Given the description of an element on the screen output the (x, y) to click on. 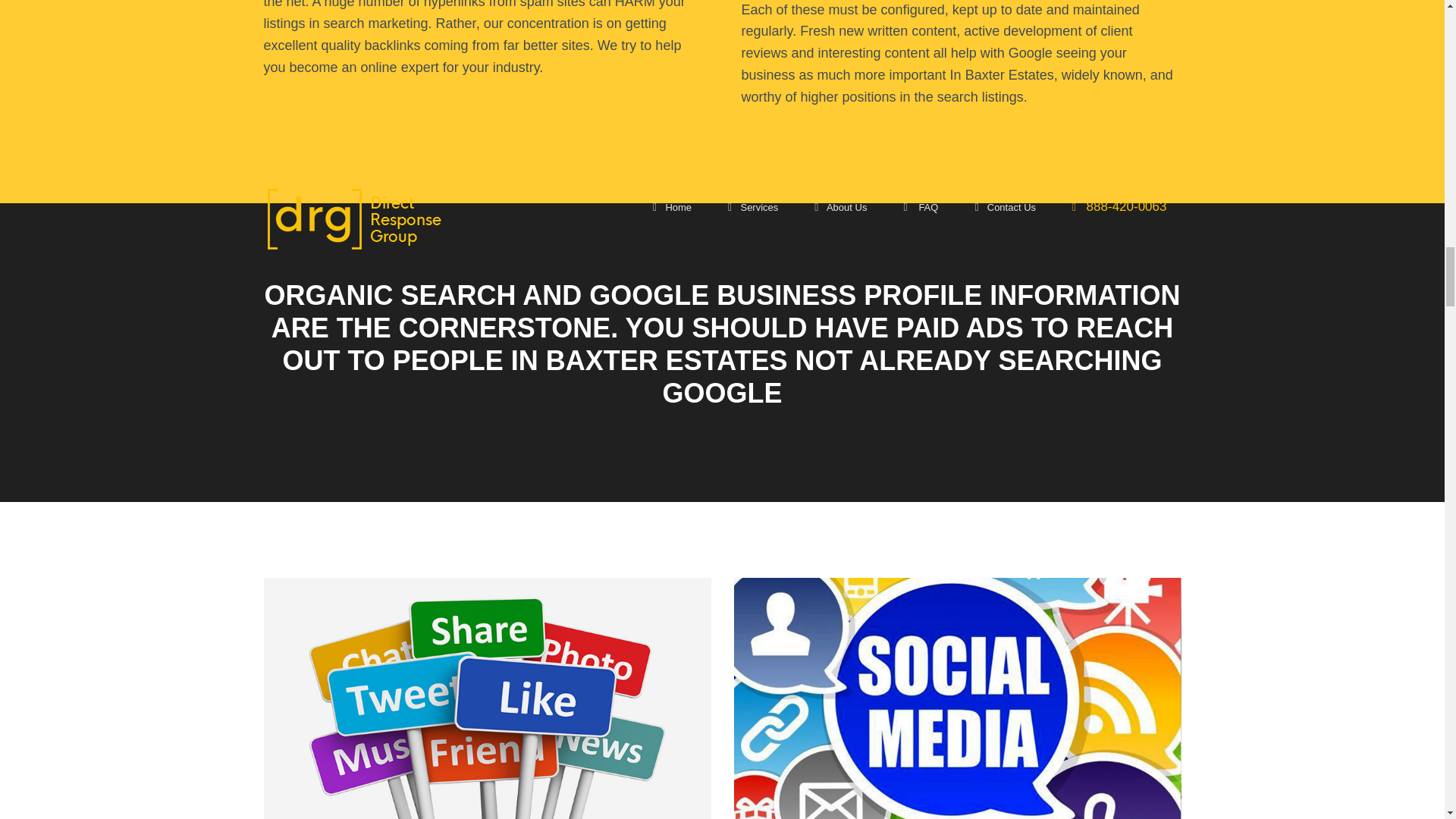
Social Media ads In Baxter Estates (956, 698)
